Given the description of an element on the screen output the (x, y) to click on. 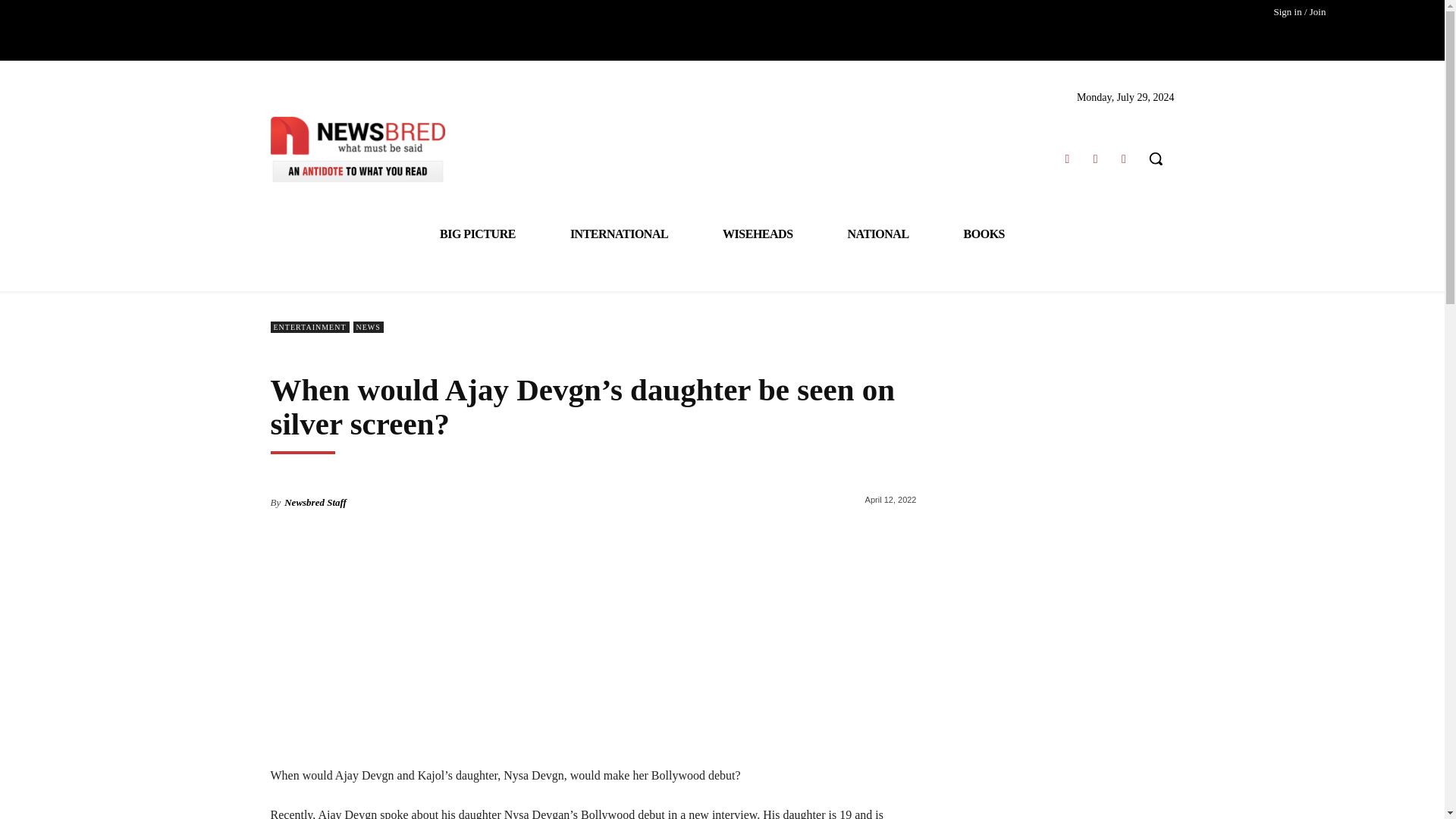
Newsbred Staff (314, 502)
BOOKS (984, 233)
Youtube (1123, 158)
BIG PICTURE (477, 233)
NATIONAL (878, 233)
INTERNATIONAL (619, 233)
NEWS (368, 326)
Facebook (1067, 158)
WISEHEADS (757, 233)
Twitter (1094, 158)
ENTERTAINMENT (309, 326)
